Given the description of an element on the screen output the (x, y) to click on. 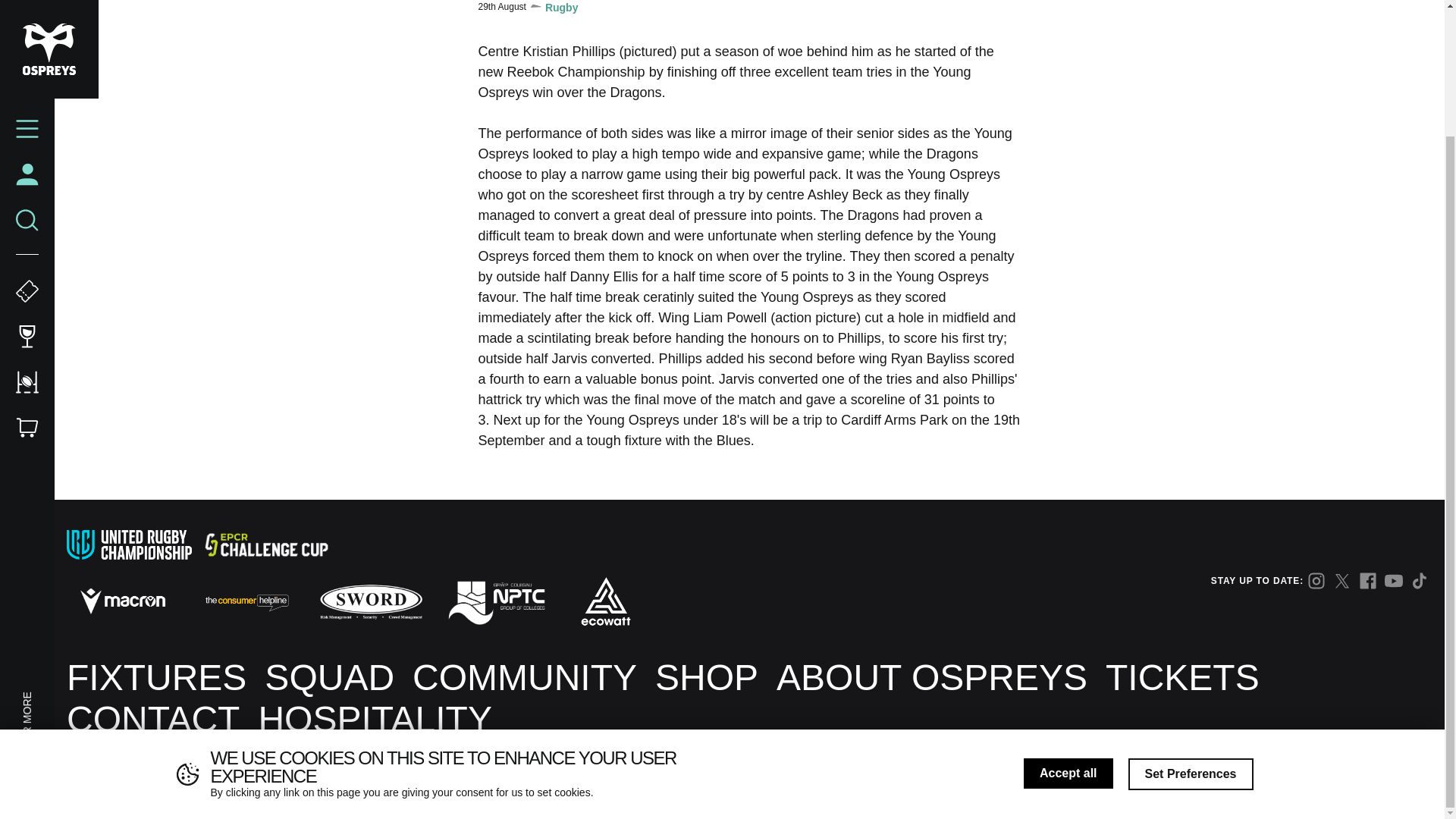
European Challenge Cup (266, 544)
United Rugby Championship (129, 544)
Macron (122, 601)
TikTok (1419, 580)
Search (27, 66)
Ecowatt (605, 600)
YouTube (1393, 580)
Sword (371, 600)
SCROLL FOR MORE (71, 546)
Instagram (1315, 580)
